Given the description of an element on the screen output the (x, y) to click on. 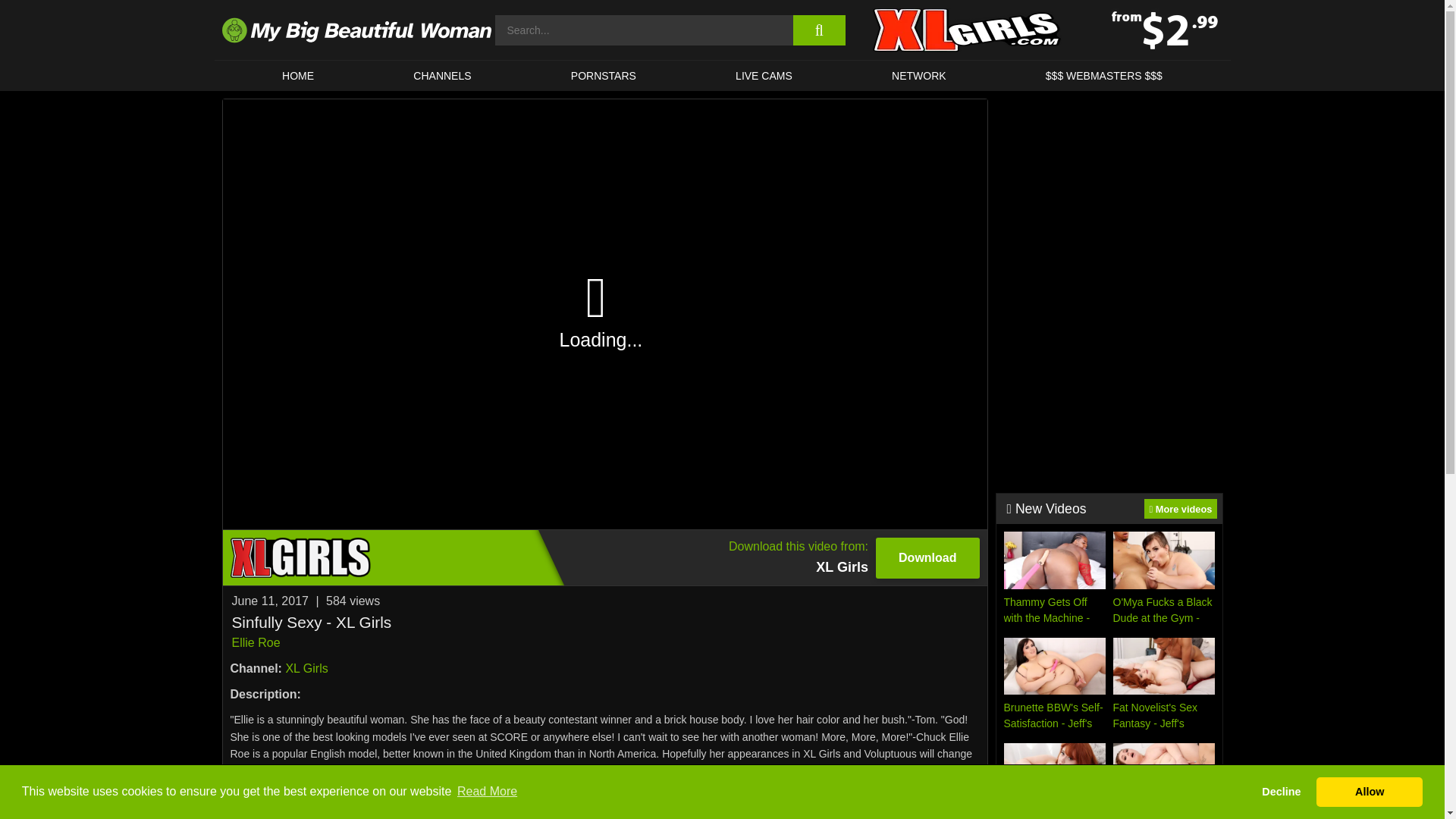
CHANNELS (442, 75)
LIVE CAMS (604, 557)
NETWORK (763, 75)
HOME (918, 75)
XL Girls (296, 75)
Ellie Roe (306, 667)
PORNSTARS (256, 642)
Play Video (603, 75)
Play Video (604, 313)
